Given the description of an element on the screen output the (x, y) to click on. 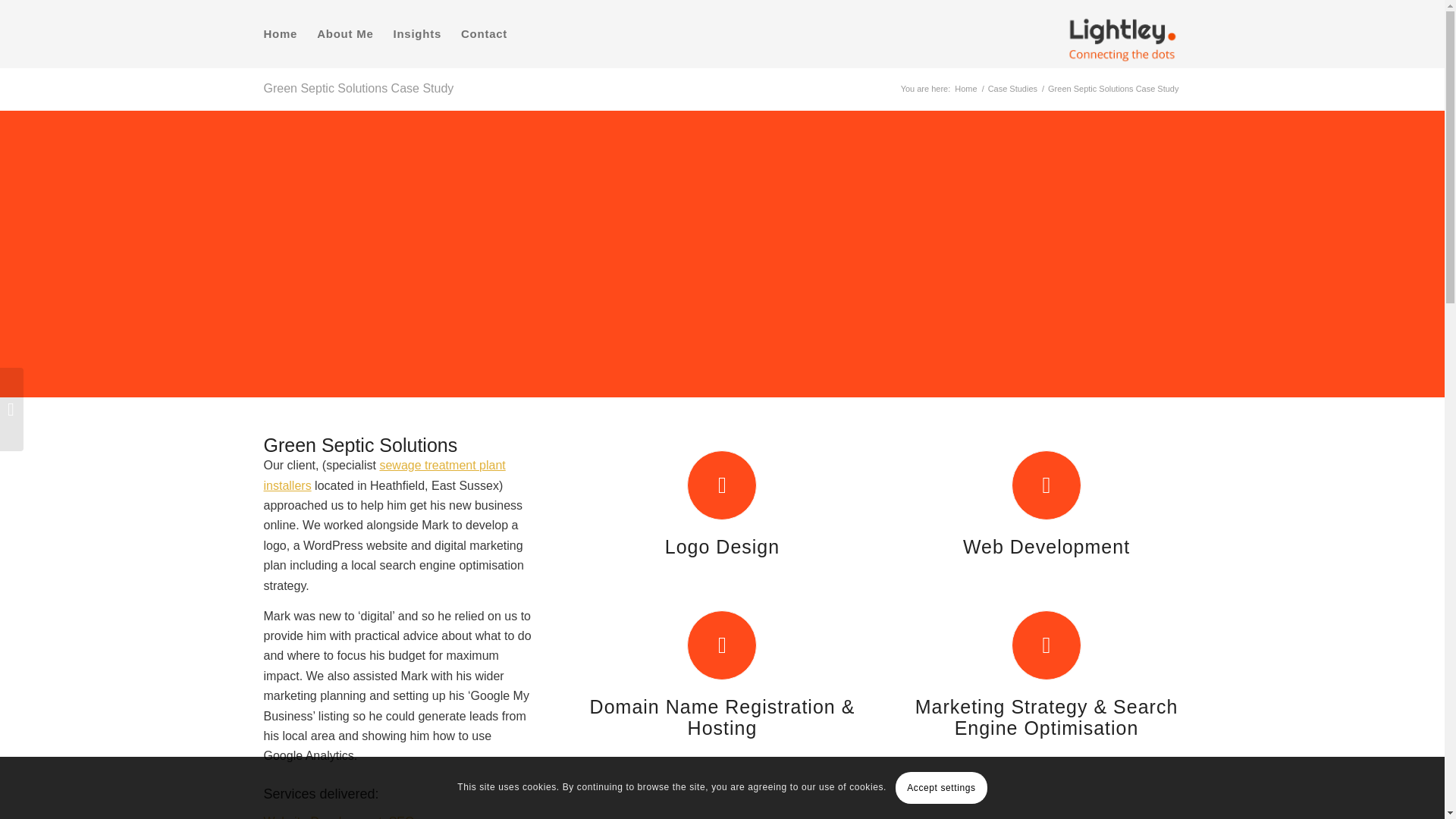
Case Studies (1012, 89)
Insights (417, 33)
Home (965, 89)
sewage treatment plant installers (384, 474)
Contact (483, 33)
About Me (344, 33)
Permanent Link: Green Septic Solutions Case Study (358, 88)
Green Septic Solutions Case Study (358, 88)
SEO (401, 816)
